Given the description of an element on the screen output the (x, y) to click on. 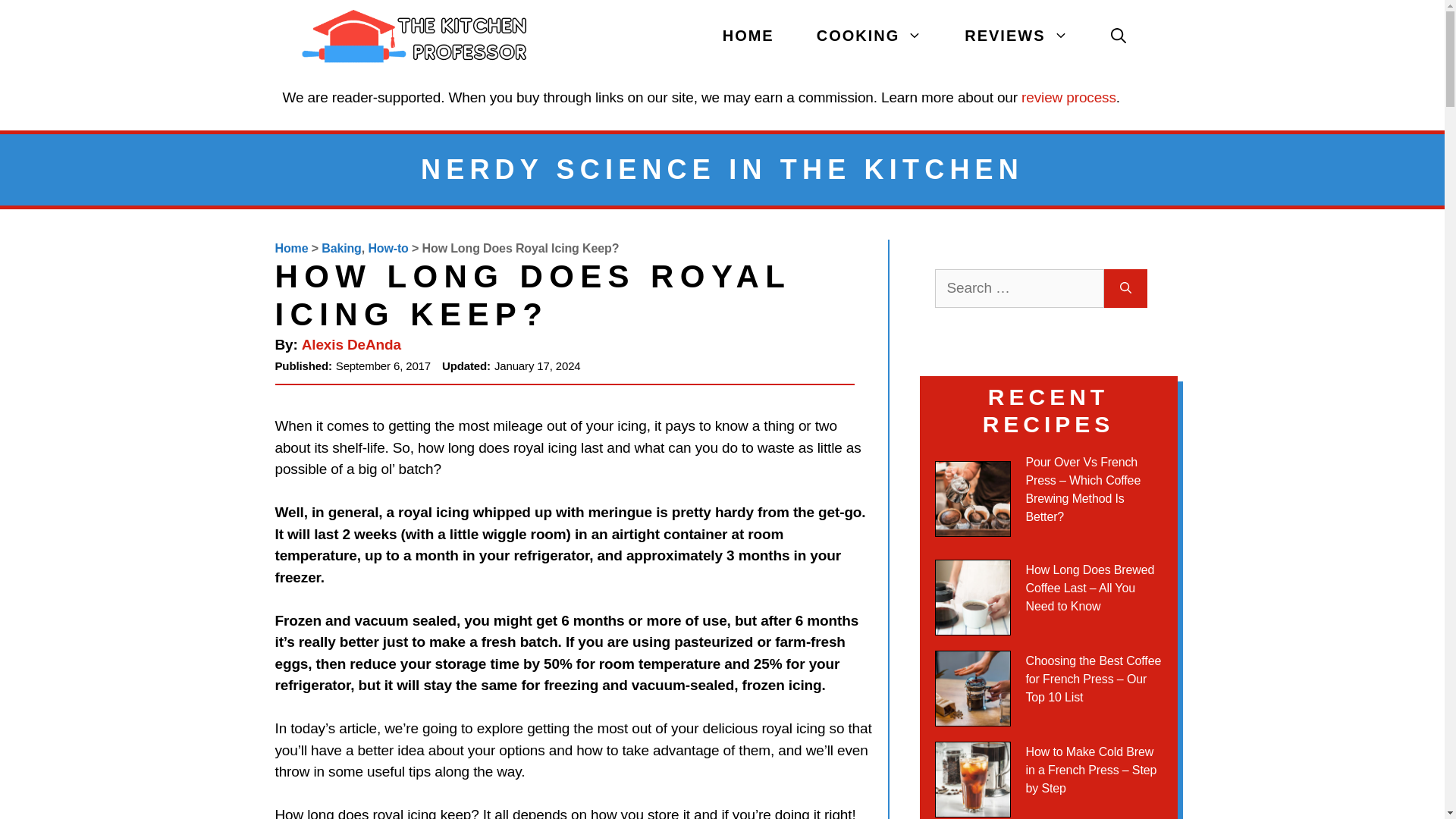
COOKING (868, 36)
REVIEWS (1016, 36)
HOME (747, 36)
